Given the description of an element on the screen output the (x, y) to click on. 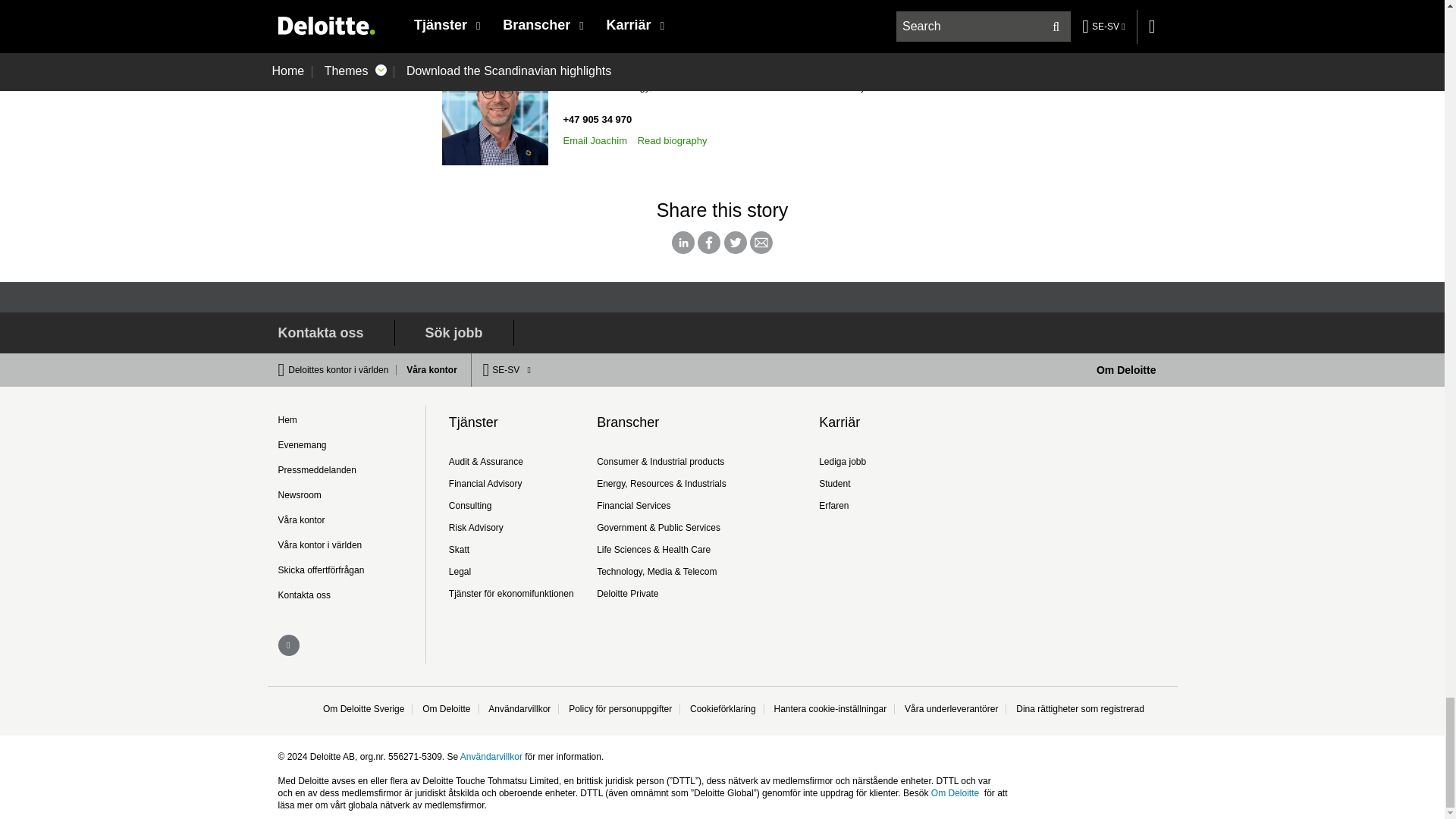
linkedin (288, 645)
Om Deloitte (1126, 369)
